Given the description of an element on the screen output the (x, y) to click on. 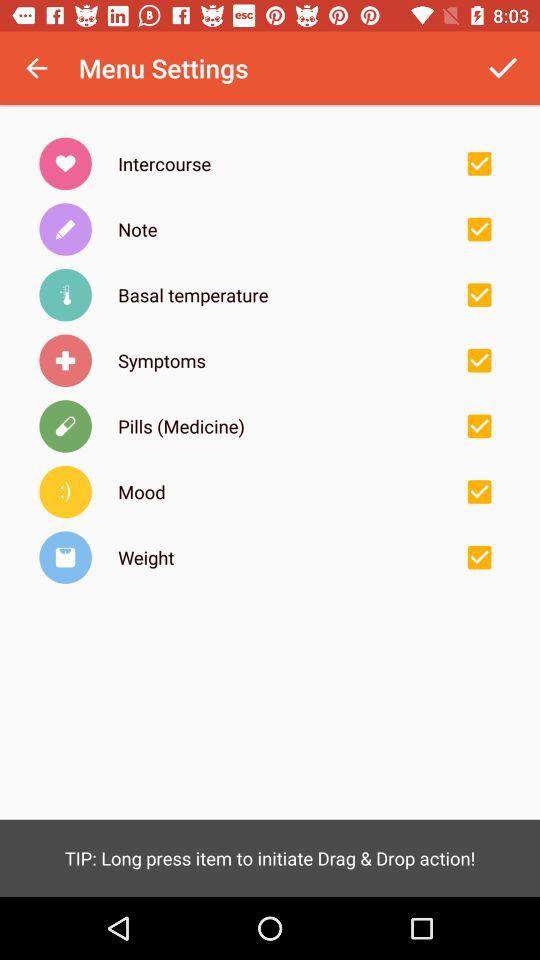
check mark box (479, 229)
